Given the description of an element on the screen output the (x, y) to click on. 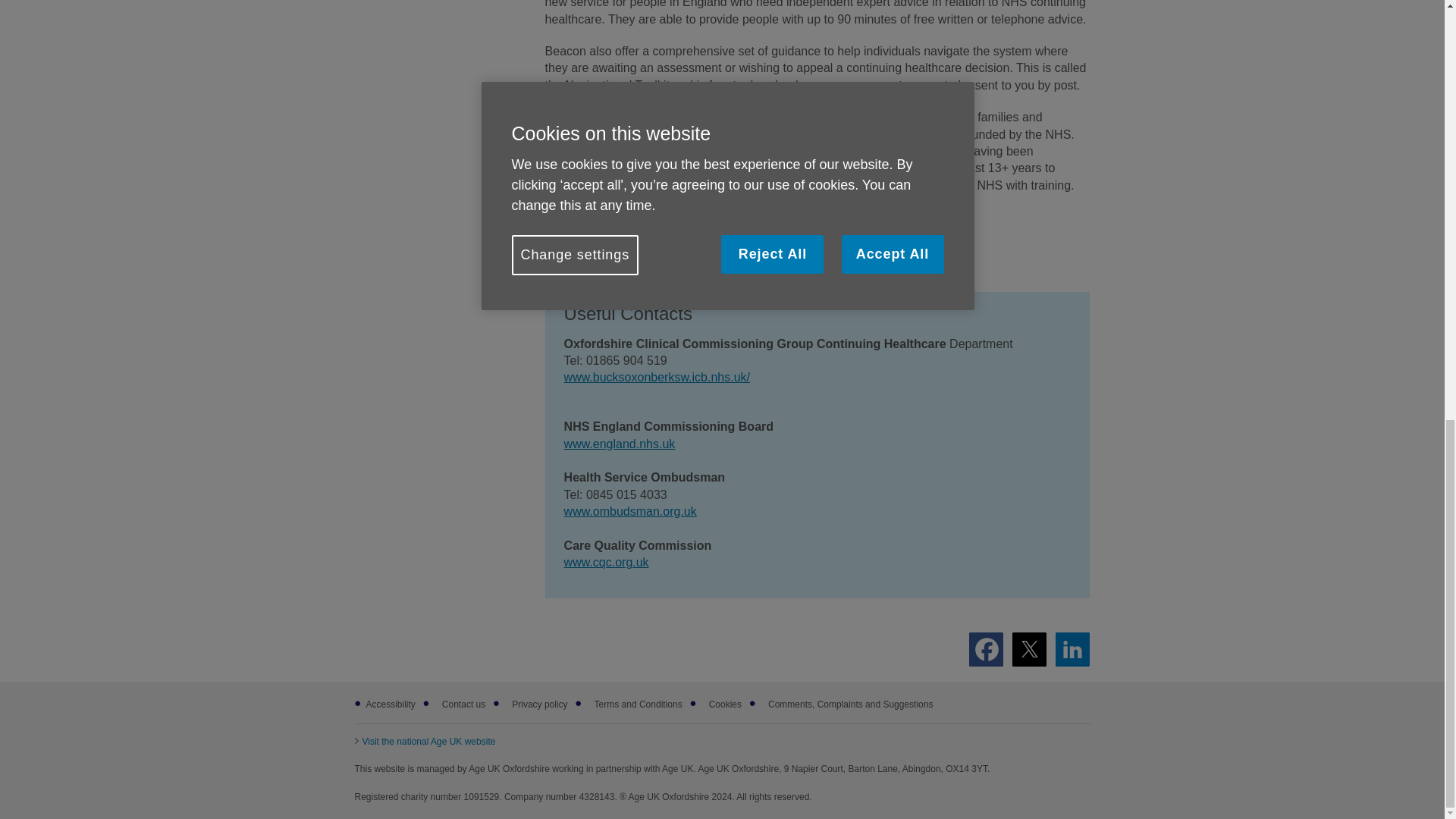
Share (1072, 649)
opens in a new window (425, 741)
Tweet (1028, 649)
